Given the description of an element on the screen output the (x, y) to click on. 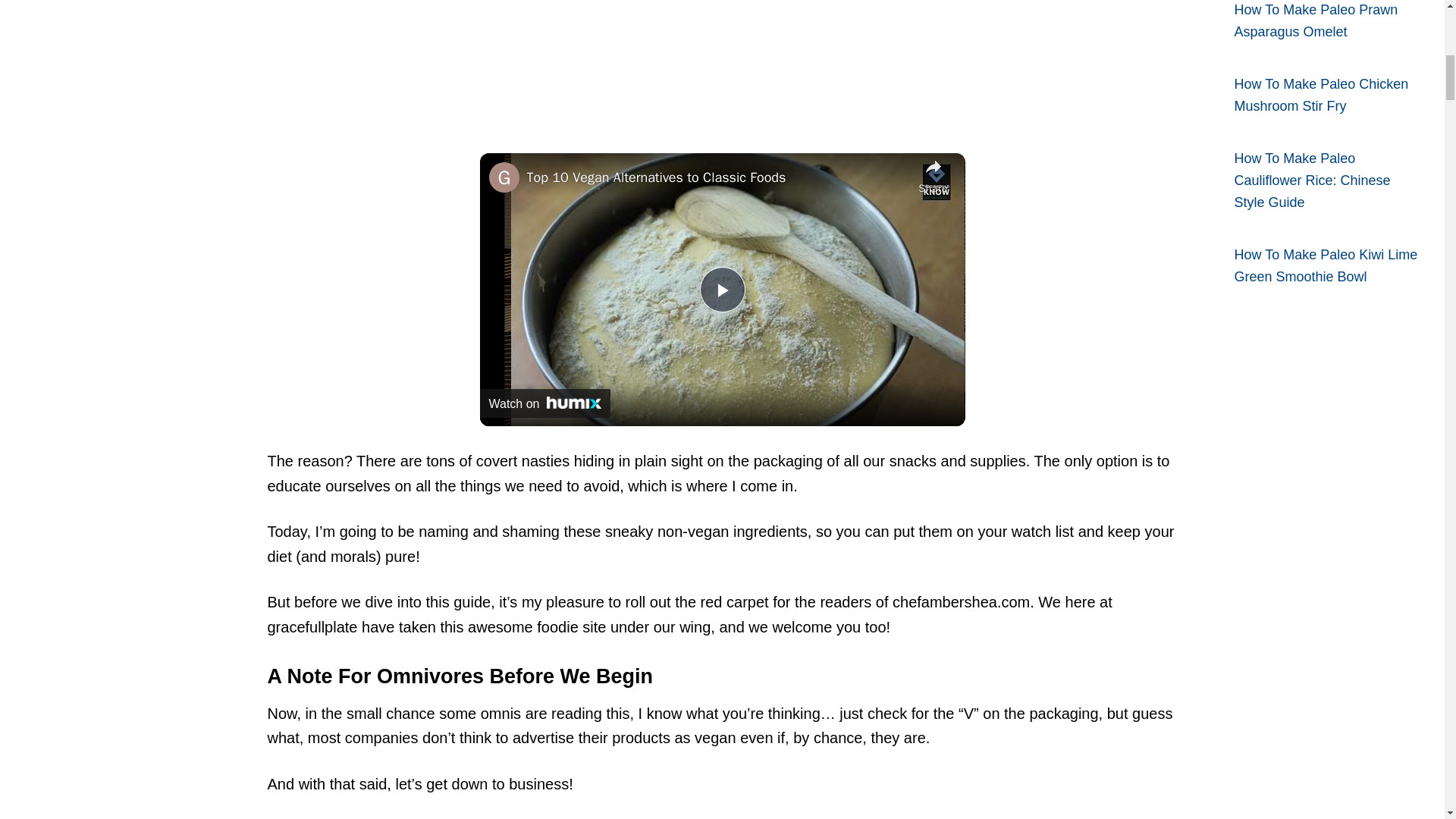
Top 10 Vegan Alternatives to Classic Foods (718, 178)
Play Video (721, 289)
Watch on (544, 403)
Play Video (721, 289)
